Given the description of an element on the screen output the (x, y) to click on. 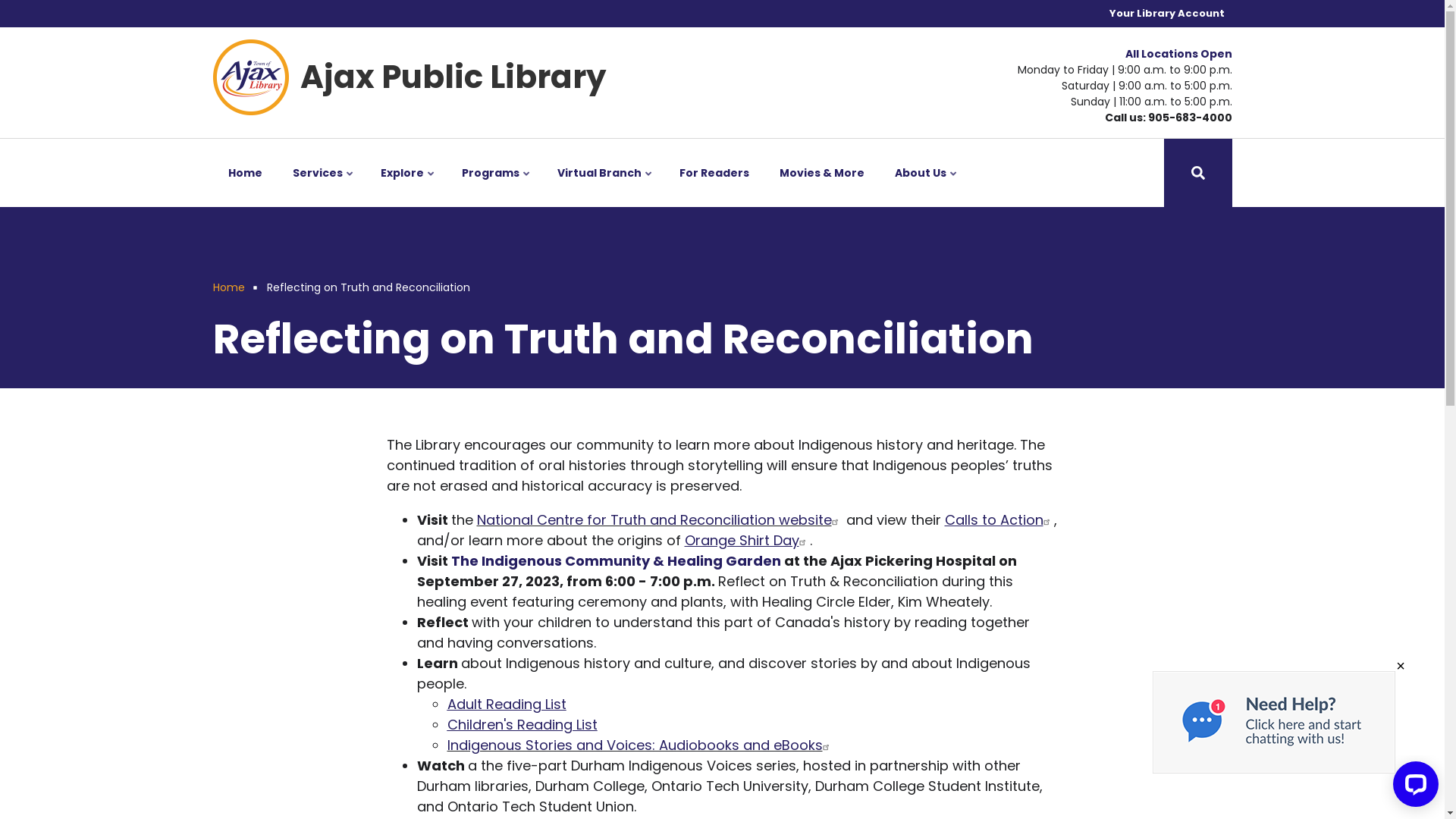
All Locations Open Element type: text (1178, 53)
Adult Reading List Element type: text (506, 703)
For Readers Element type: text (713, 172)
Your Library Account Element type: text (1166, 13)
Movies & More Element type: text (821, 172)
Calls to Action(link is external) Element type: text (999, 519)
Skip to main content Element type: text (0, 0)
Home Element type: text (228, 286)
Home Element type: text (244, 172)
Orange Shirt Day(link is external) Element type: text (746, 539)
The Indigenous Community & Healing Garden Element type: text (615, 560)
Ajax Public Library Element type: text (453, 76)
Home Element type: hover (250, 75)
Children's Reading List Element type: text (522, 724)
